Given the description of an element on the screen output the (x, y) to click on. 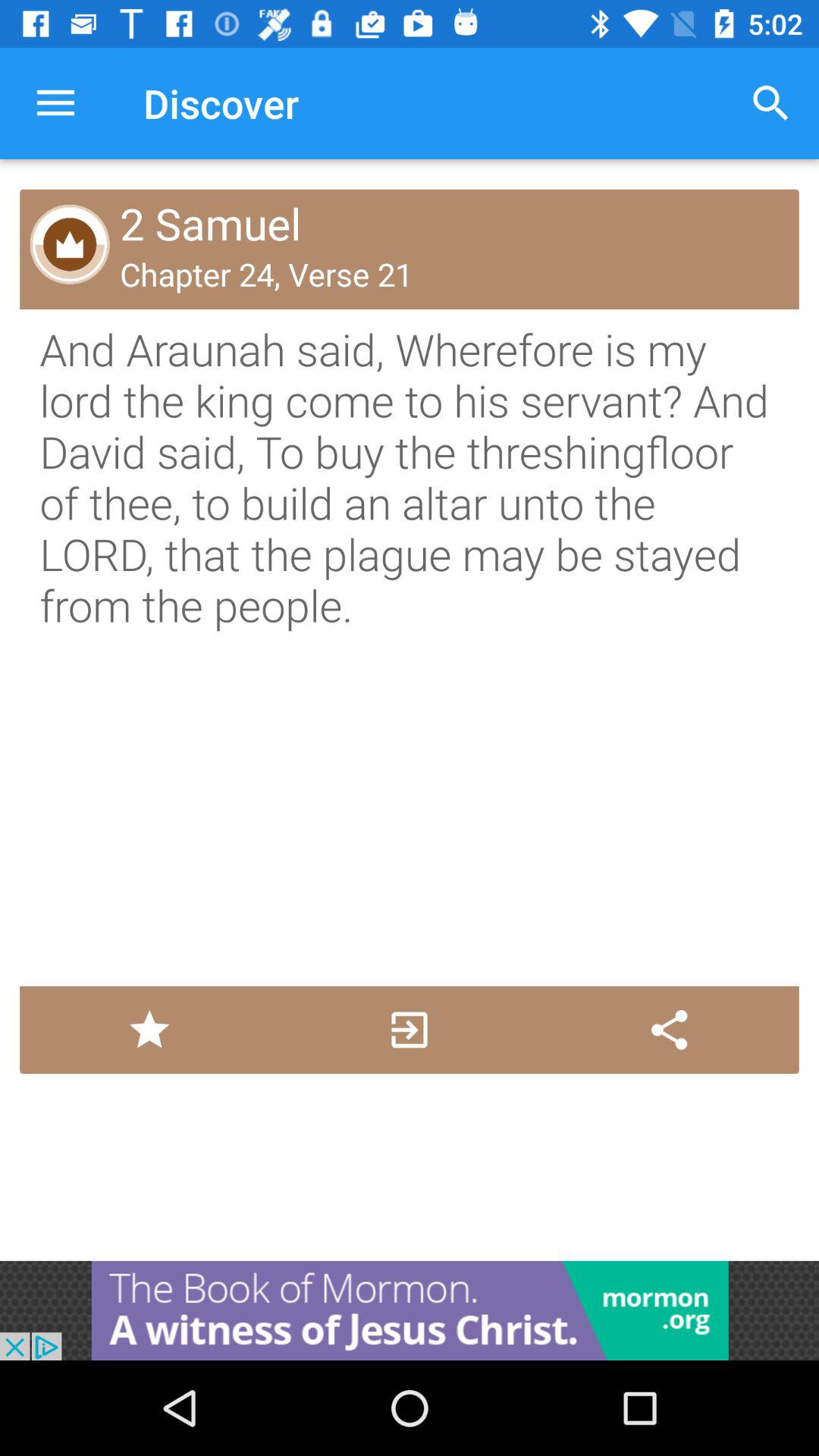
advertisement bar (409, 1310)
